Given the description of an element on the screen output the (x, y) to click on. 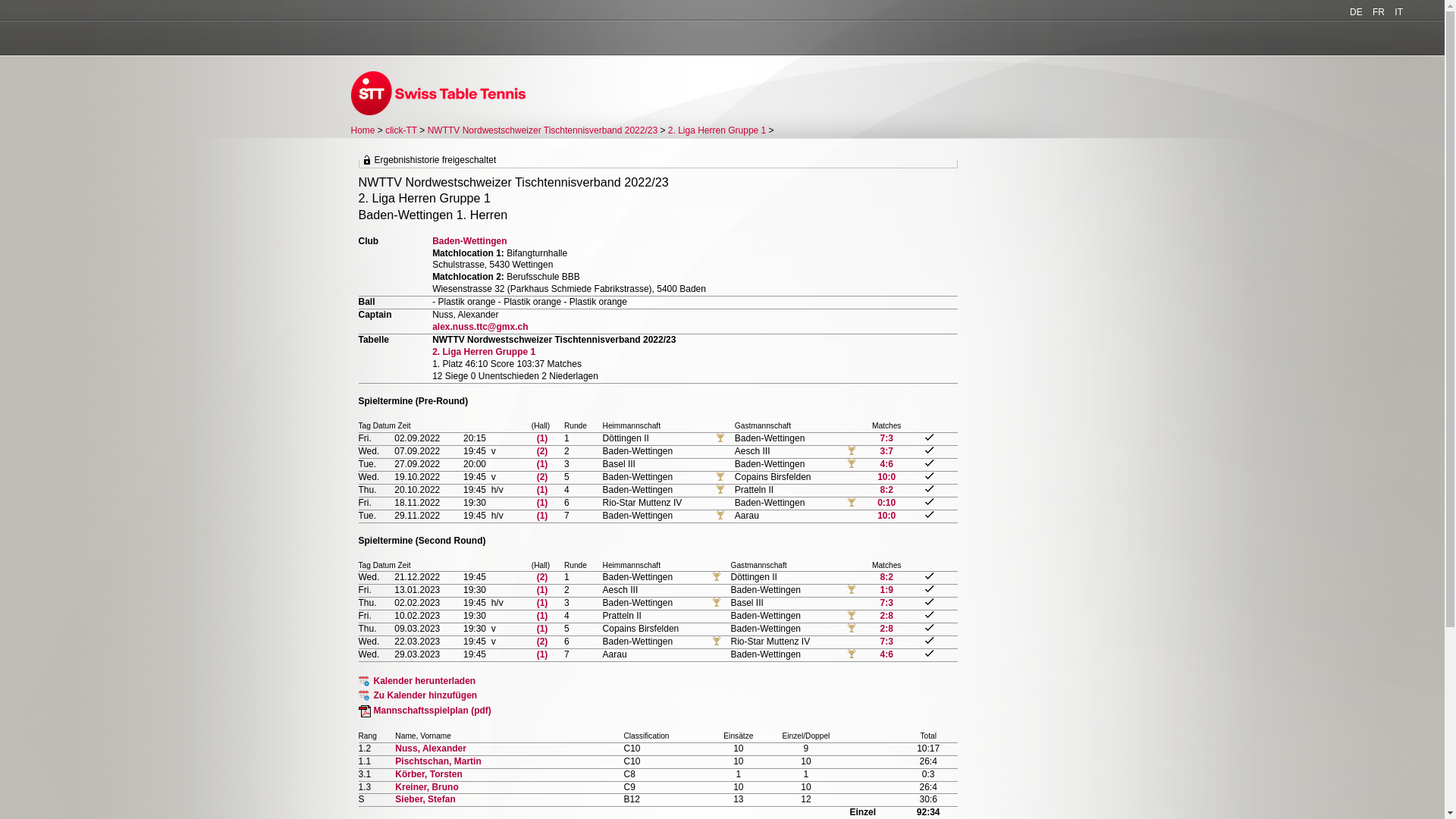
(2) Element type: text (542, 450)
Victory Element type: hover (851, 589)
Kreiner, Bruno Element type: text (426, 786)
Victory Element type: hover (720, 476)
0:10 Element type: text (886, 502)
8:2 Element type: text (886, 576)
Victory Element type: hover (851, 628)
Spielbericht genehmigt Element type: hover (929, 514)
Victory Element type: hover (716, 576)
Nuss, Alexander Element type: text (430, 748)
Victory Element type: hover (720, 489)
DE Element type: text (1355, 11)
(2) Element type: text (542, 576)
Spielbericht genehmigt Element type: hover (929, 653)
NWTTV Nordwestschweizer Tischtennisverband 2022/23 Element type: text (542, 130)
Victory Element type: hover (716, 602)
(1) Element type: text (542, 502)
7:3 Element type: text (886, 641)
(1) Element type: text (542, 438)
Sieber, Stefan Element type: text (425, 798)
2:8 Element type: text (886, 628)
2:8 Element type: text (886, 615)
Spielbericht genehmigt Element type: hover (929, 627)
Spielbericht genehmigt Element type: hover (929, 575)
7:3 Element type: text (886, 602)
Spielbericht genehmigt Element type: hover (929, 488)
Spielbericht genehmigt Element type: hover (929, 437)
Victory Element type: hover (851, 463)
4:6 Element type: text (885, 463)
Spielbericht genehmigt Element type: hover (929, 588)
Victory Element type: hover (851, 654)
Home Element type: text (362, 130)
2. Liga Herren Gruppe 1 Element type: text (483, 351)
Spielbericht genehmigt Element type: hover (929, 614)
(2) Element type: text (542, 641)
8:2 Element type: text (885, 489)
Spielbericht genehmigt Element type: hover (929, 449)
click-TT Element type: text (401, 130)
Kalender herunterladen Element type: text (416, 680)
FR Element type: text (1378, 11)
Victory Element type: hover (720, 438)
Spielbericht genehmigt Element type: hover (929, 640)
Victory Element type: hover (851, 615)
IT Element type: text (1398, 11)
3:7 Element type: text (885, 450)
(1) Element type: text (542, 602)
Victory Element type: hover (720, 515)
(1) Element type: text (542, 654)
(1) Element type: text (542, 515)
Spielbericht genehmigt Element type: hover (929, 475)
Victory Element type: hover (851, 450)
Spielbericht genehmigt Element type: hover (929, 462)
10:0 Element type: text (886, 515)
Baden-Wettingen Element type: text (469, 240)
Pischtschan, Martin Element type: text (437, 761)
(1) Element type: text (542, 615)
Spielbericht genehmigt Element type: hover (929, 601)
(1) Element type: text (542, 589)
Mannschaftsspielplan (pdf) Element type: text (423, 710)
(2) Element type: text (542, 476)
(1) Element type: text (542, 489)
2. Liga Herren Gruppe 1 Element type: text (716, 130)
10:0 Element type: text (886, 476)
Spielbericht genehmigt Element type: hover (929, 501)
Victory Element type: hover (716, 641)
(1) Element type: text (542, 628)
4:6 Element type: text (886, 654)
1:9 Element type: text (886, 589)
Victory Element type: hover (851, 502)
alex.nuss.ttc@gmx.ch Element type: text (479, 326)
7:3 Element type: text (885, 438)
(1) Element type: text (542, 463)
